Given the description of an element on the screen output the (x, y) to click on. 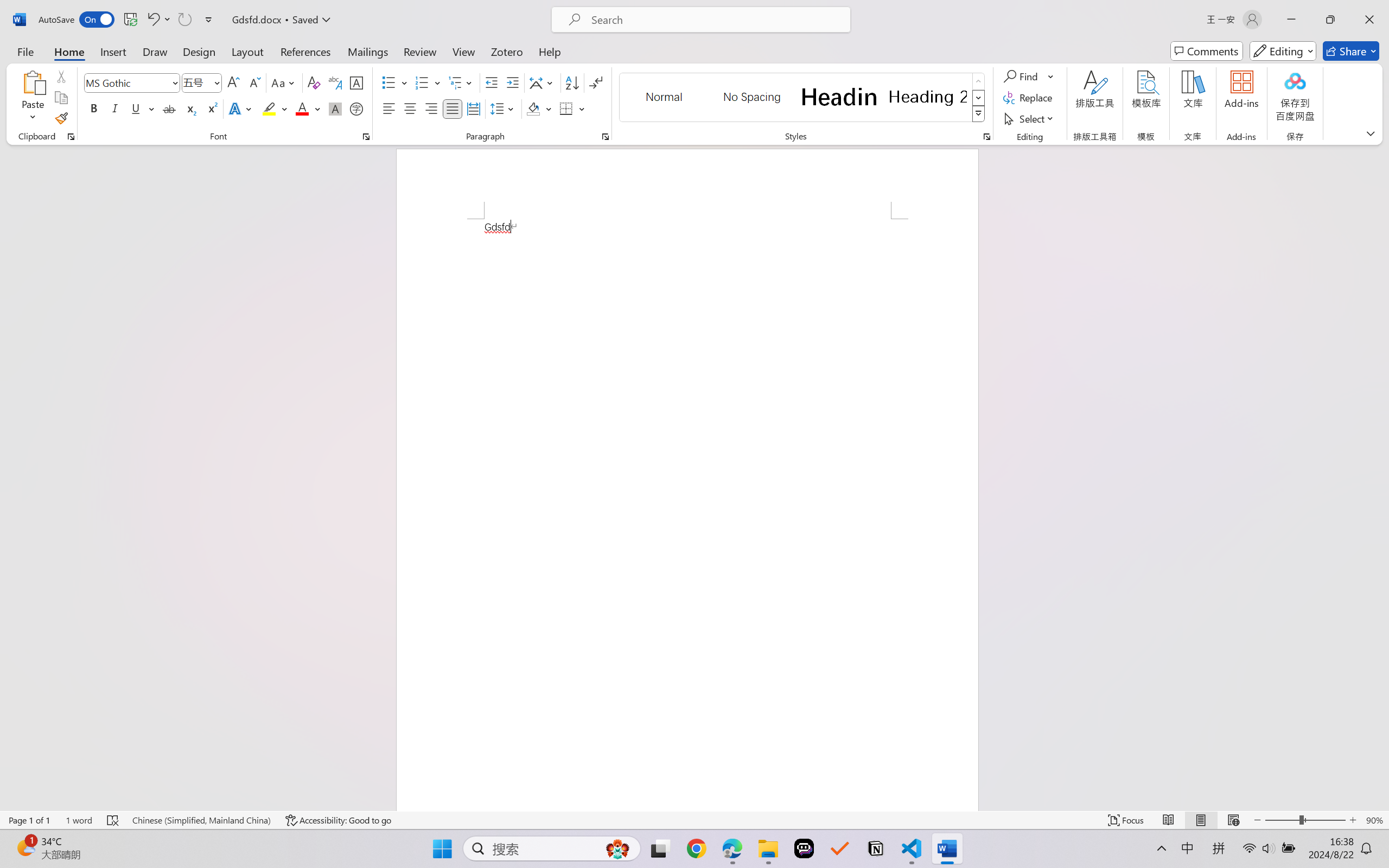
AutomationID: QuickStylesGallery (802, 97)
Shading (539, 108)
Can't Repeat (184, 19)
Microsoft search (715, 19)
